Given the description of an element on the screen output the (x, y) to click on. 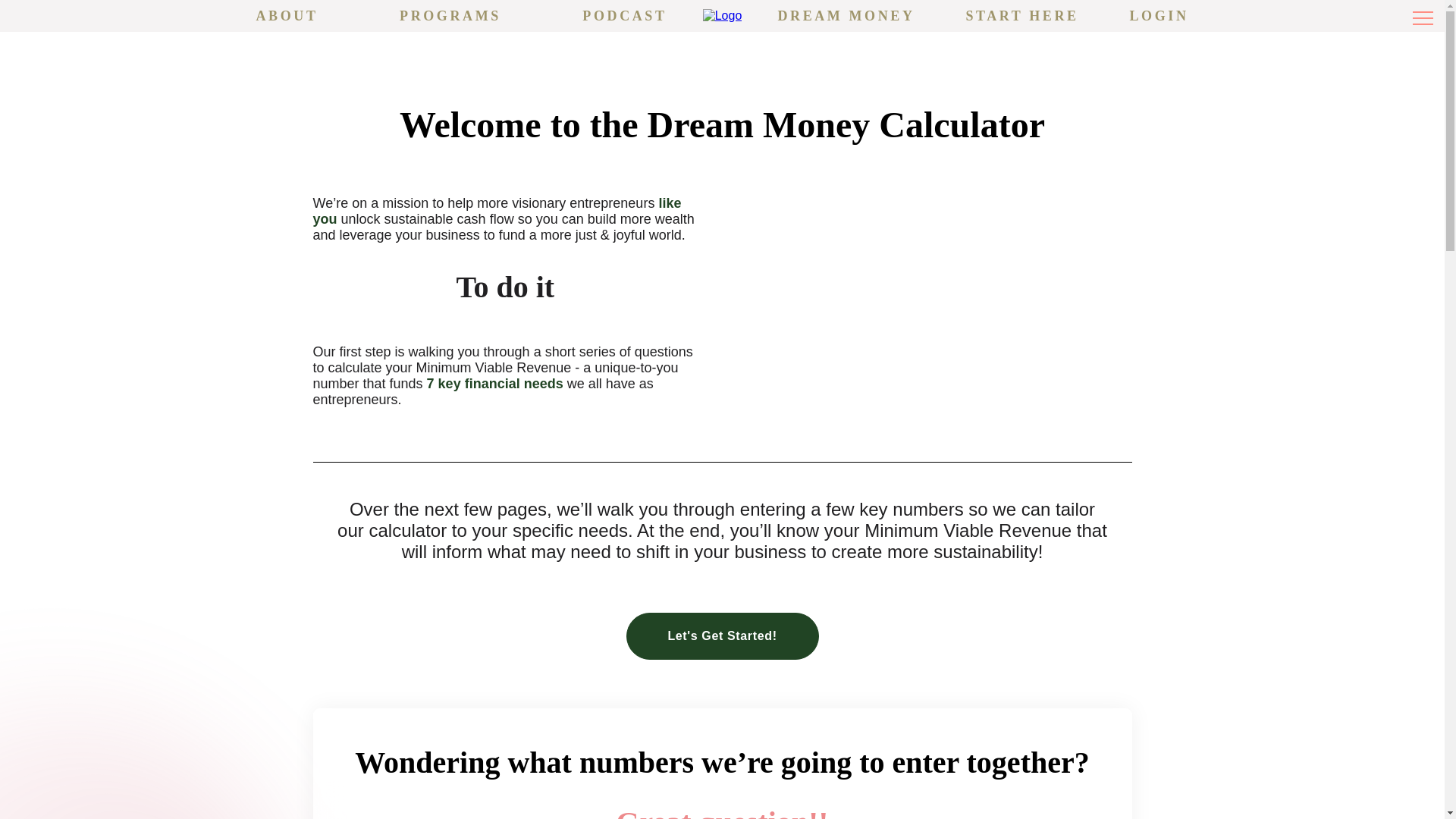
PROGRAMS (449, 15)
DREAM MONEY (845, 15)
START HERE (1021, 15)
PODCAST (624, 15)
LOGIN (1158, 15)
ABOUT (287, 15)
Let's Get Started! (722, 636)
